Given the description of an element on the screen output the (x, y) to click on. 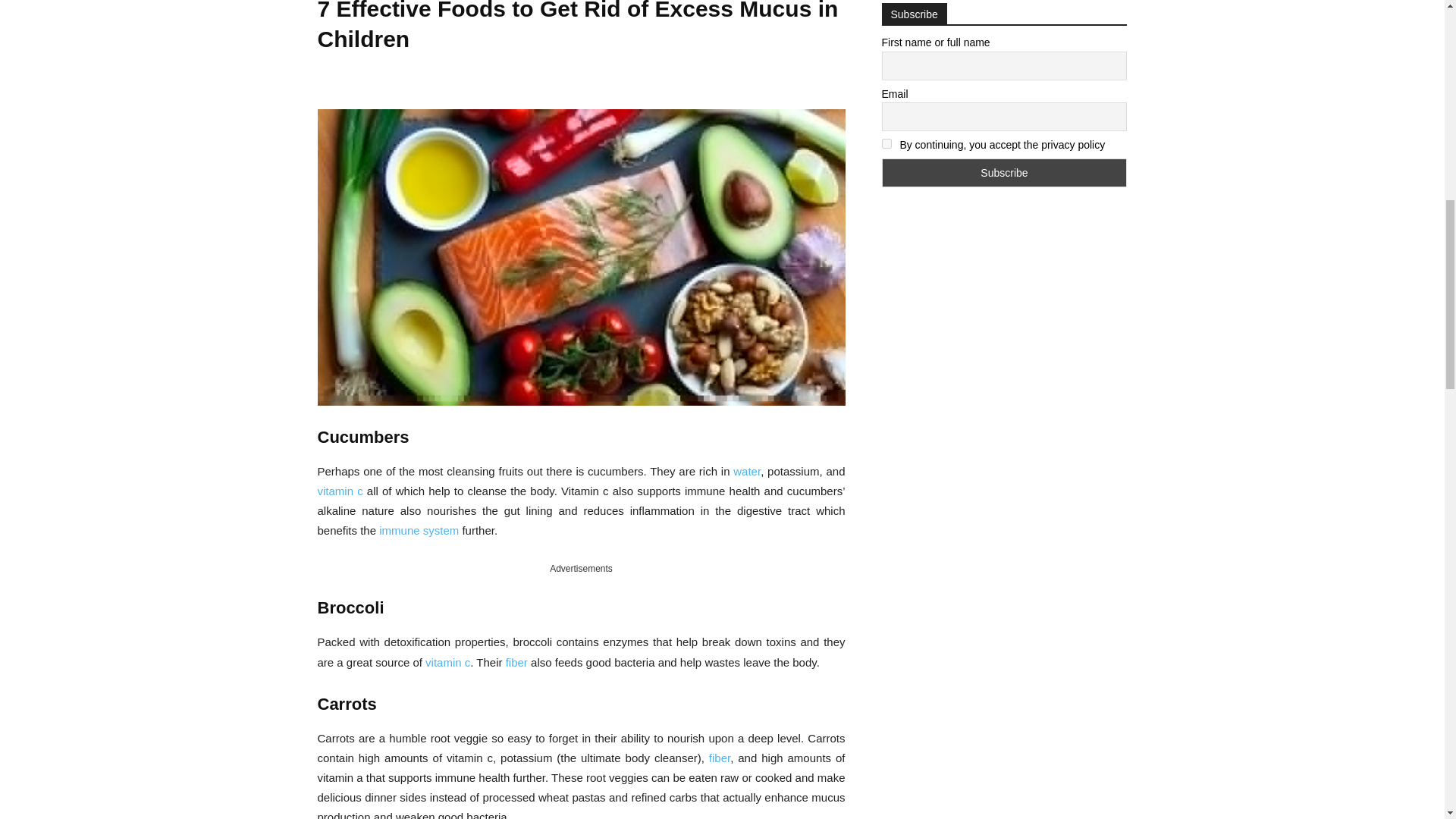
on (885, 143)
Subscribe (1003, 172)
